Given the description of an element on the screen output the (x, y) to click on. 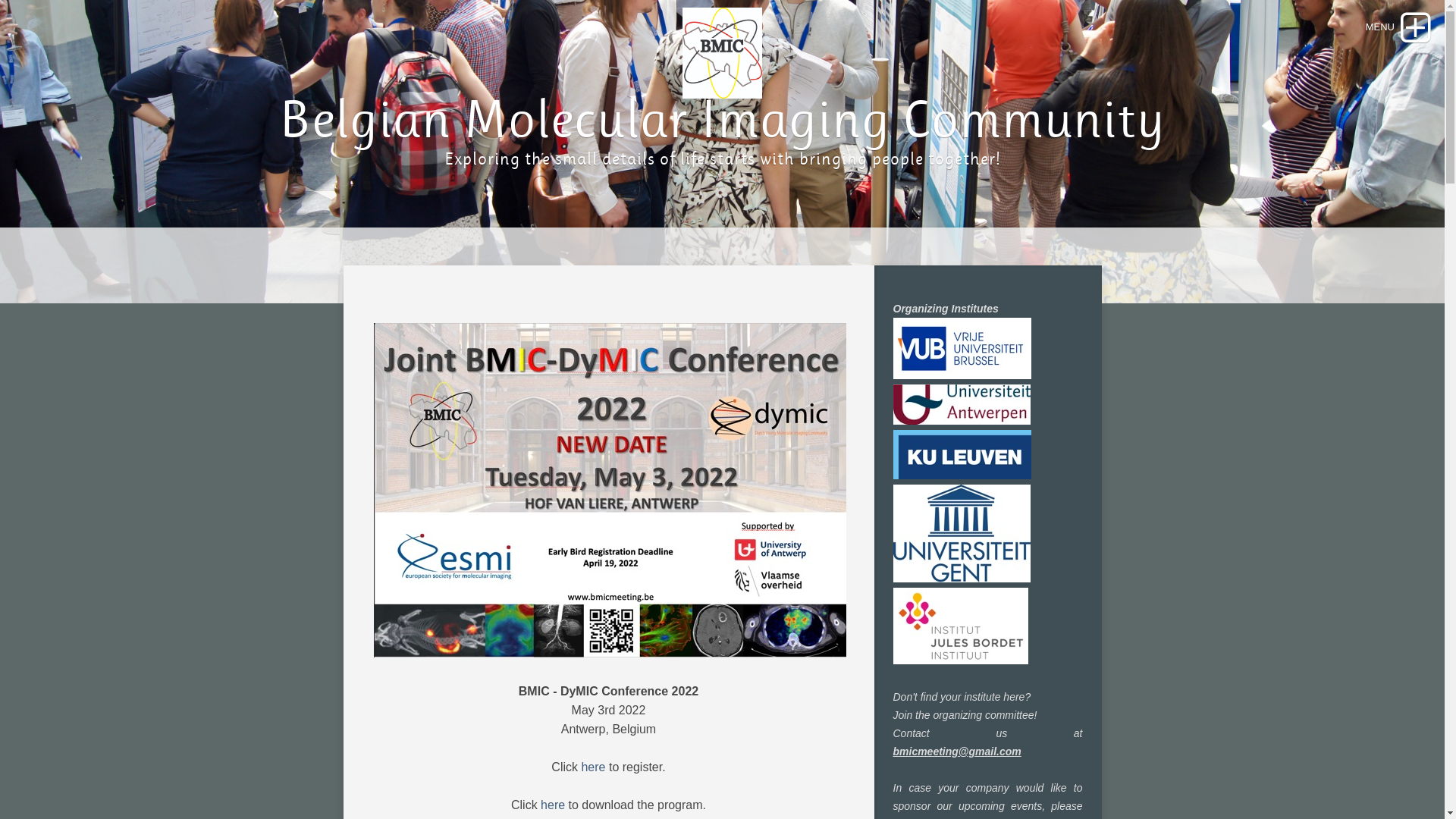
here Element type: text (592, 766)
here Element type: text (552, 804)
